Given the description of an element on the screen output the (x, y) to click on. 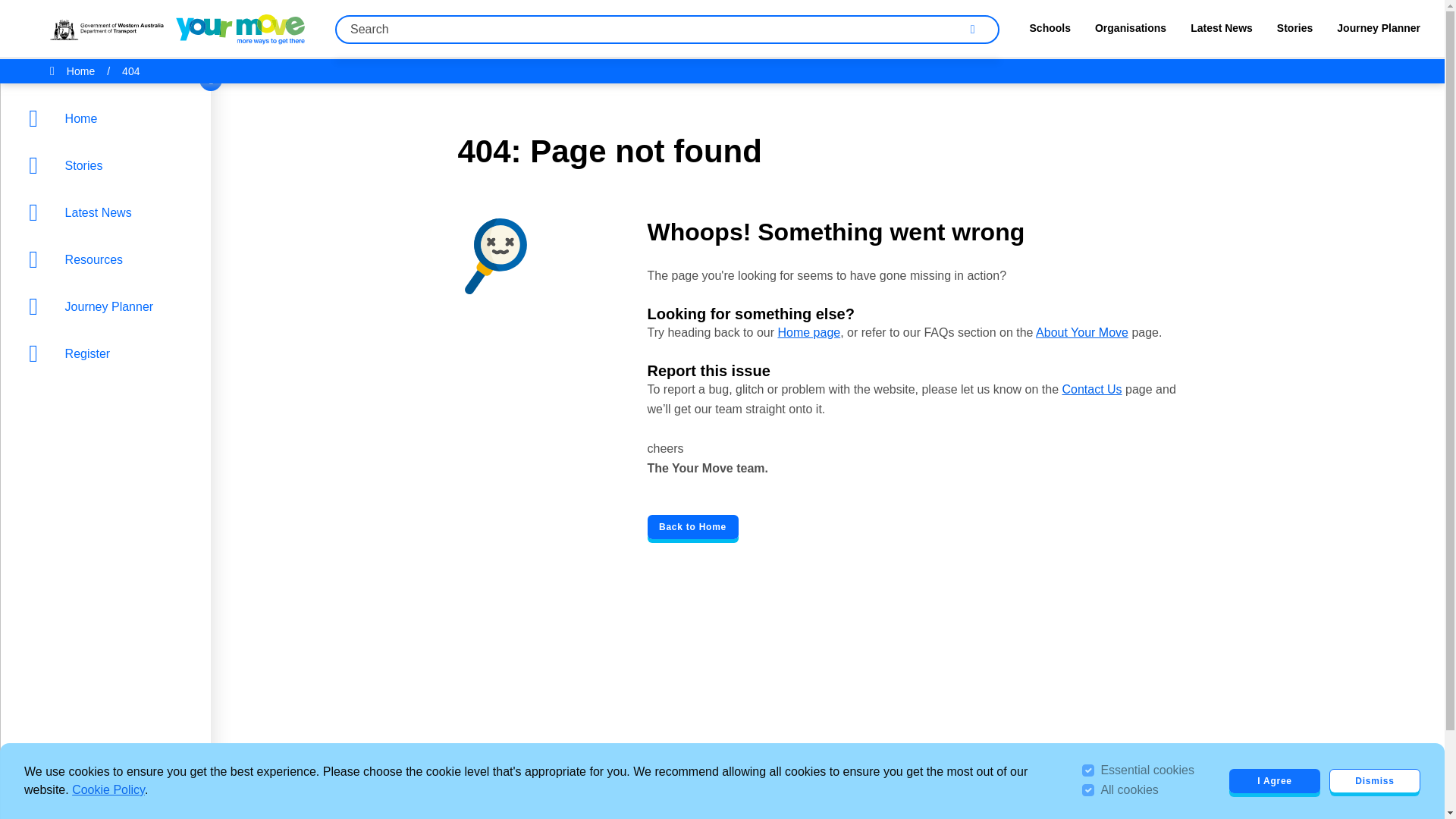
Journey Planner (1378, 31)
Contact Us (1091, 389)
Register (109, 353)
Home (109, 118)
Home (109, 118)
Stories (1294, 31)
Latest News (109, 211)
Cookie Policy (107, 789)
Resources (109, 259)
Latest News (109, 211)
Home (80, 70)
Latest News (1221, 31)
Resources (109, 259)
Journey Planner (109, 305)
